Given the description of an element on the screen output the (x, y) to click on. 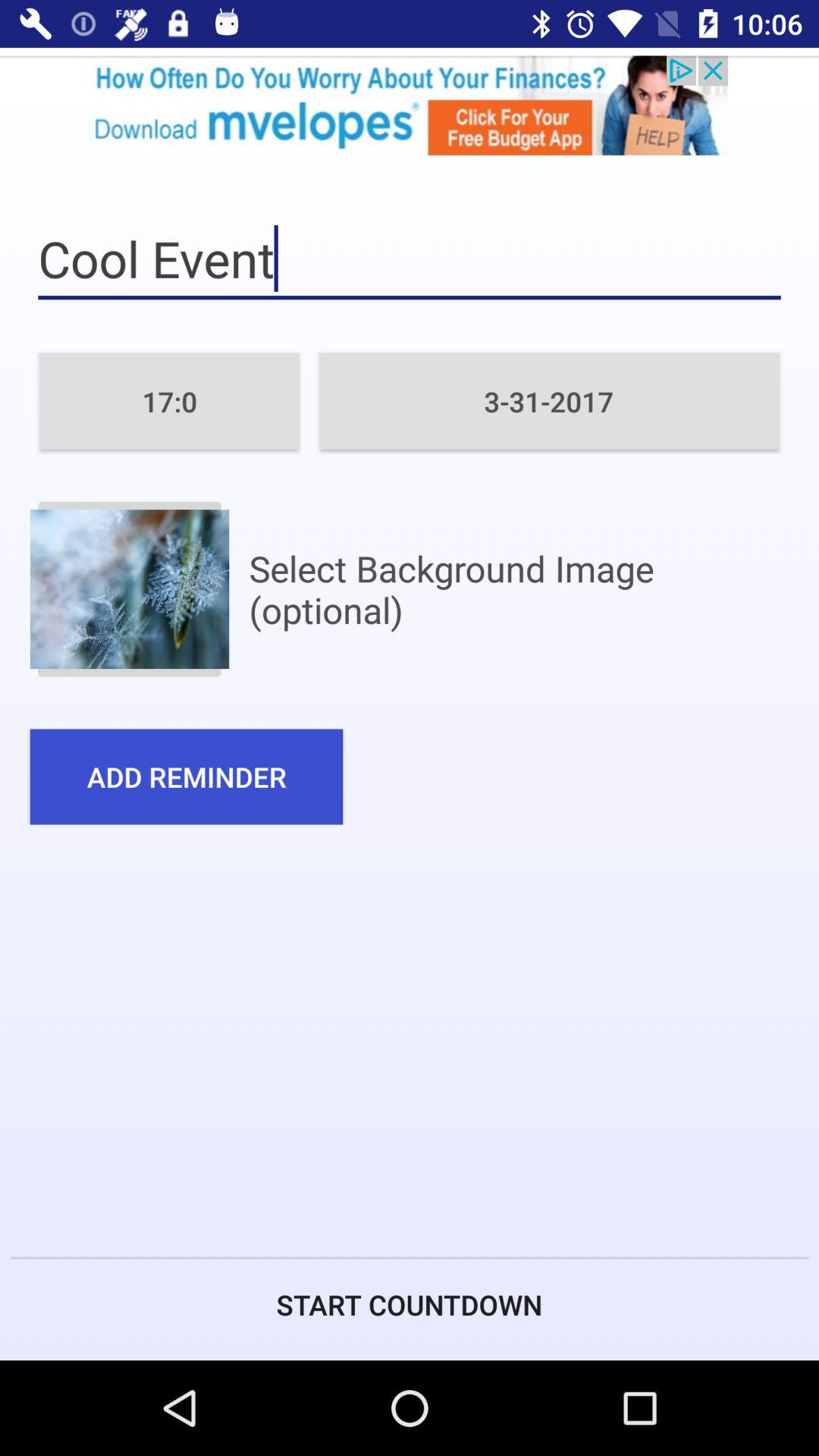
open advertisement (409, 105)
